Given the description of an element on the screen output the (x, y) to click on. 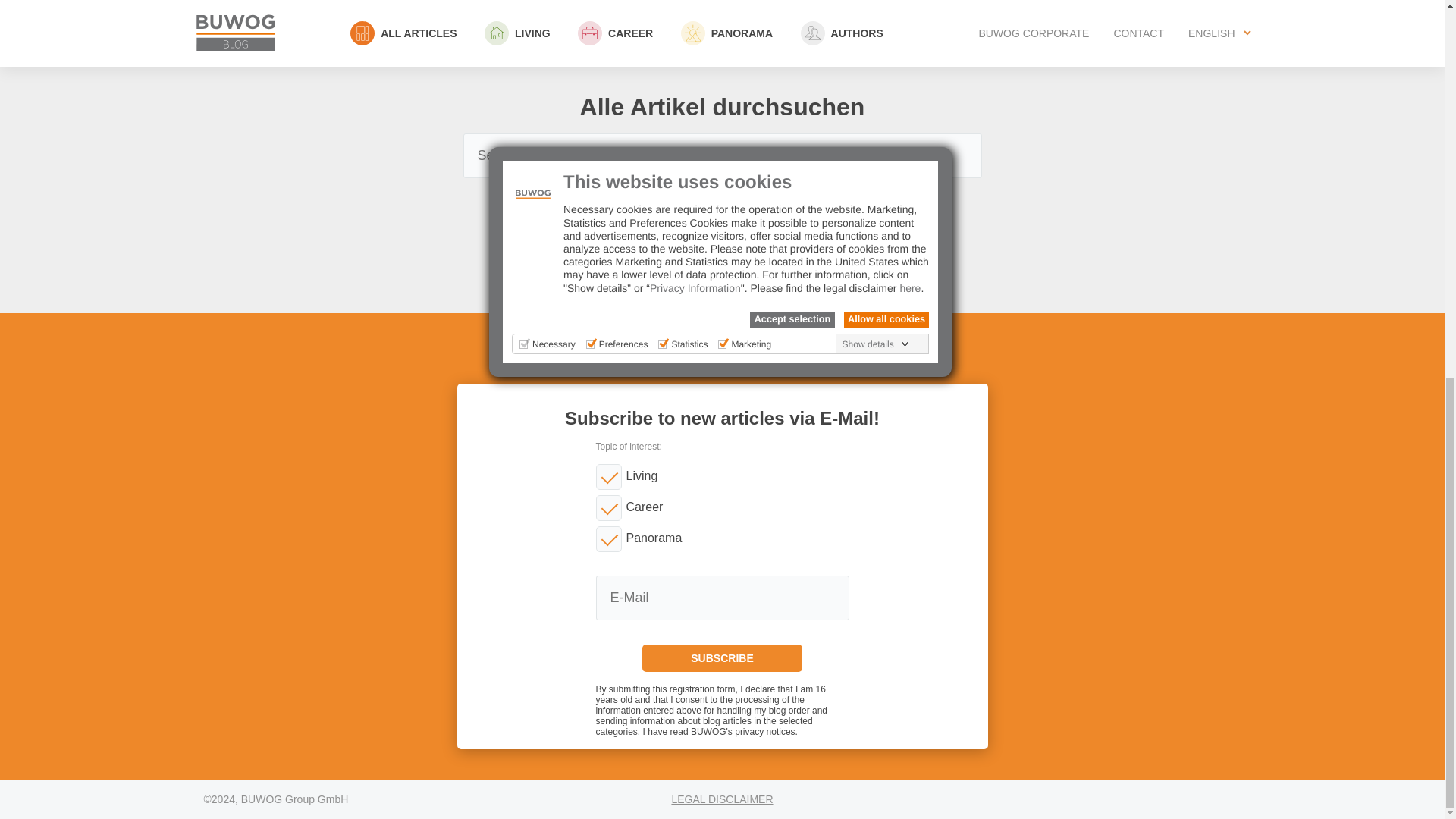
Subscribe (722, 657)
Search (721, 203)
Search (721, 203)
